Given the description of an element on the screen output the (x, y) to click on. 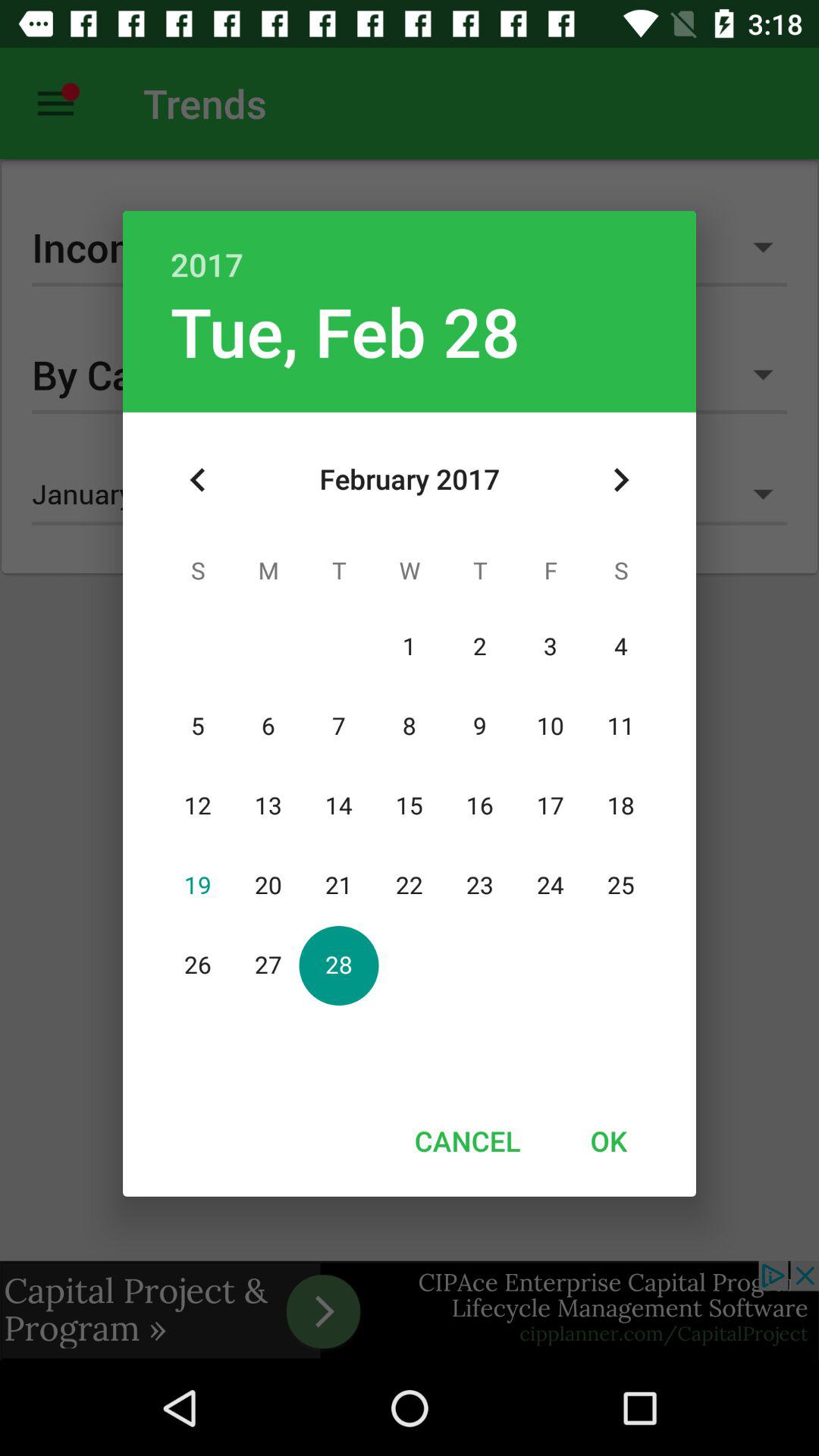
select icon below tue, feb 28 (197, 479)
